Given the description of an element on the screen output the (x, y) to click on. 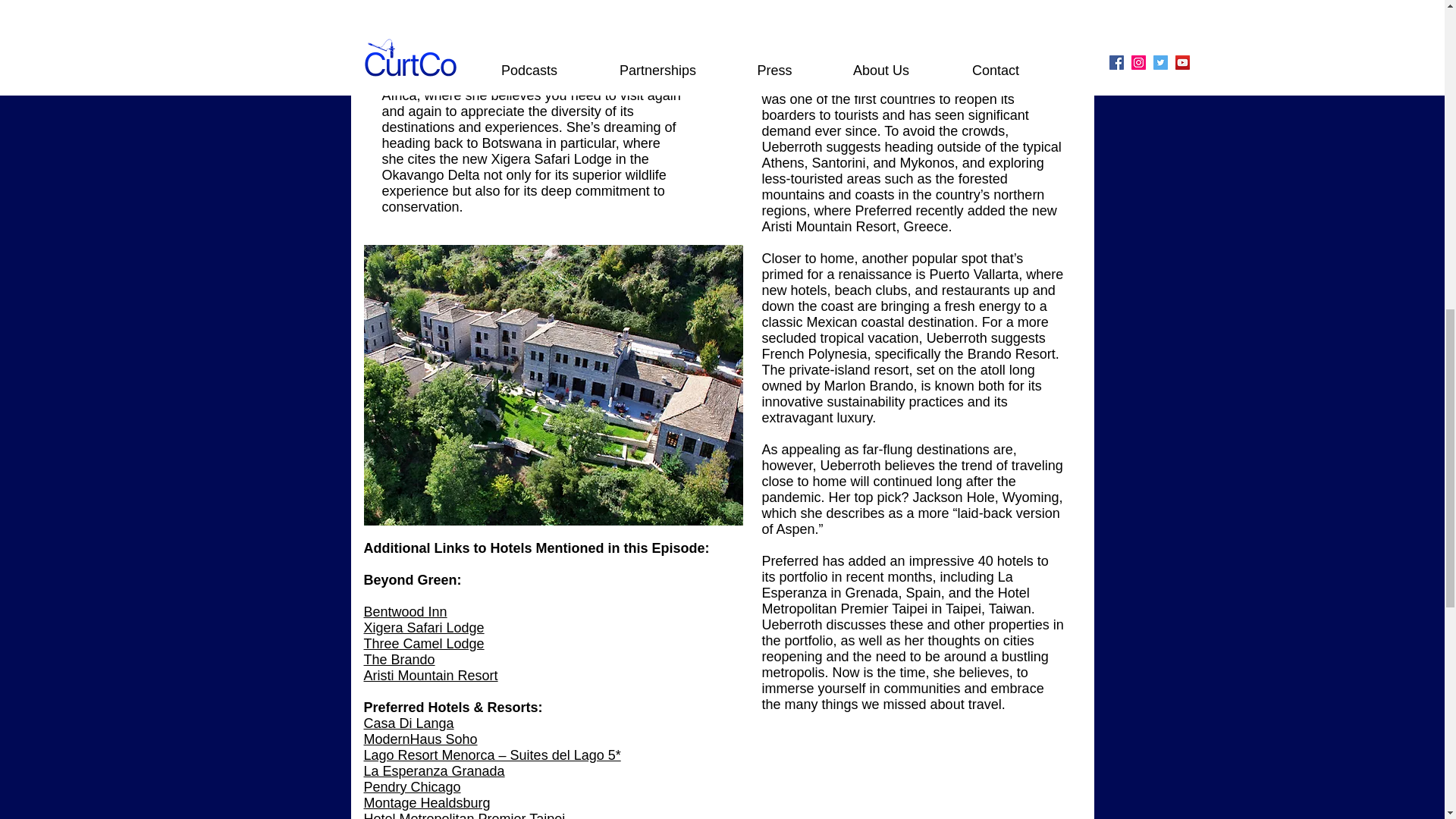
ModernHaus Soho (420, 739)
Bentwood Inn (405, 611)
Three Camel Lodge (424, 643)
The Brando (399, 659)
Hotel Metropolitan Premier Taipei  (466, 815)
Montage Healdsburg (427, 802)
Aristi Mountain Resort (430, 675)
La Esperanza Granada (434, 770)
Pendry Chicago (412, 786)
Casa Di Langa (409, 723)
